Given the description of an element on the screen output the (x, y) to click on. 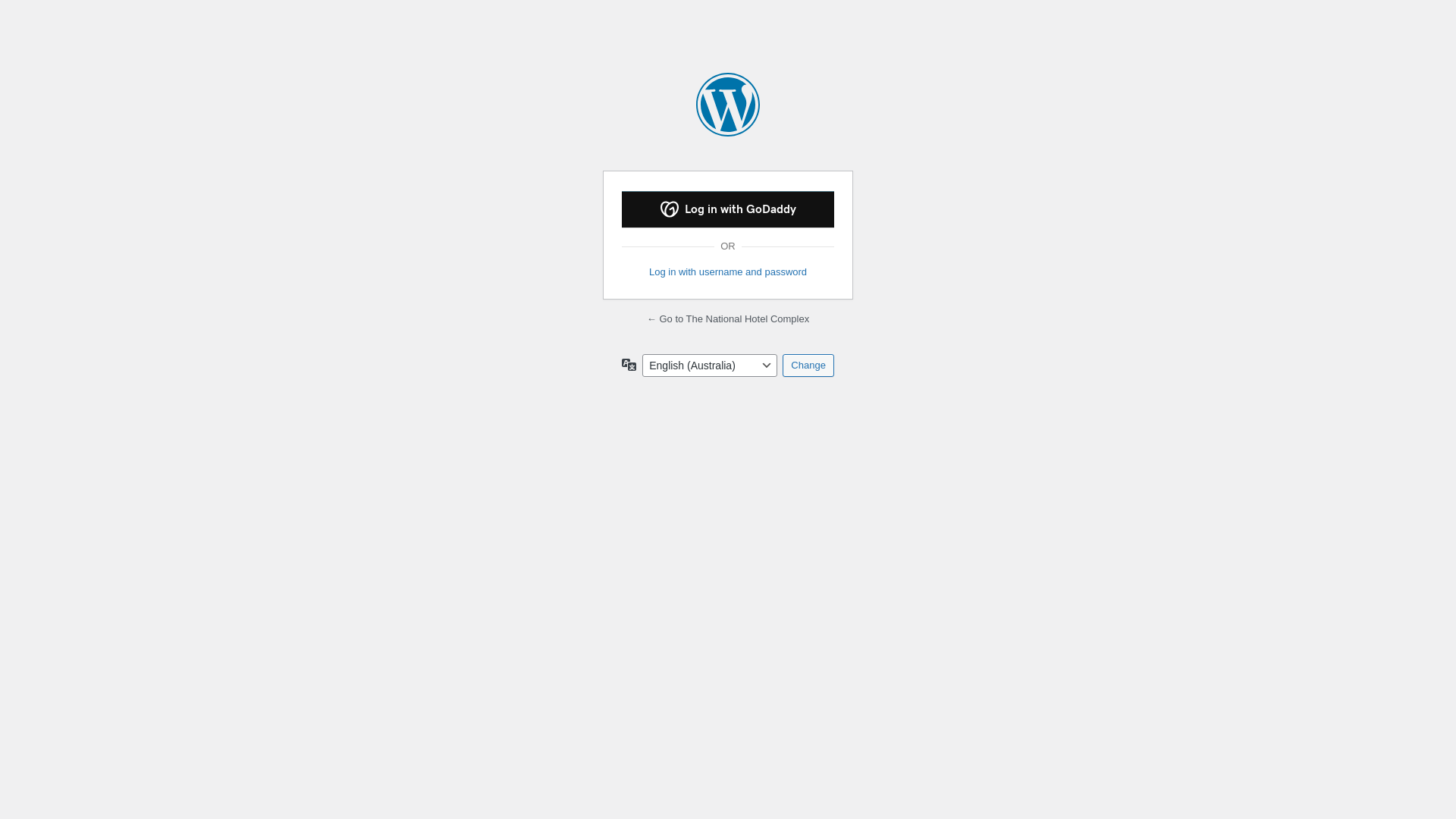
Powered by WordPress Element type: text (727, 104)
Log in with username and password Element type: text (727, 272)
Log in with GoDaddy Element type: text (727, 209)
Change Element type: text (808, 365)
